Given the description of an element on the screen output the (x, y) to click on. 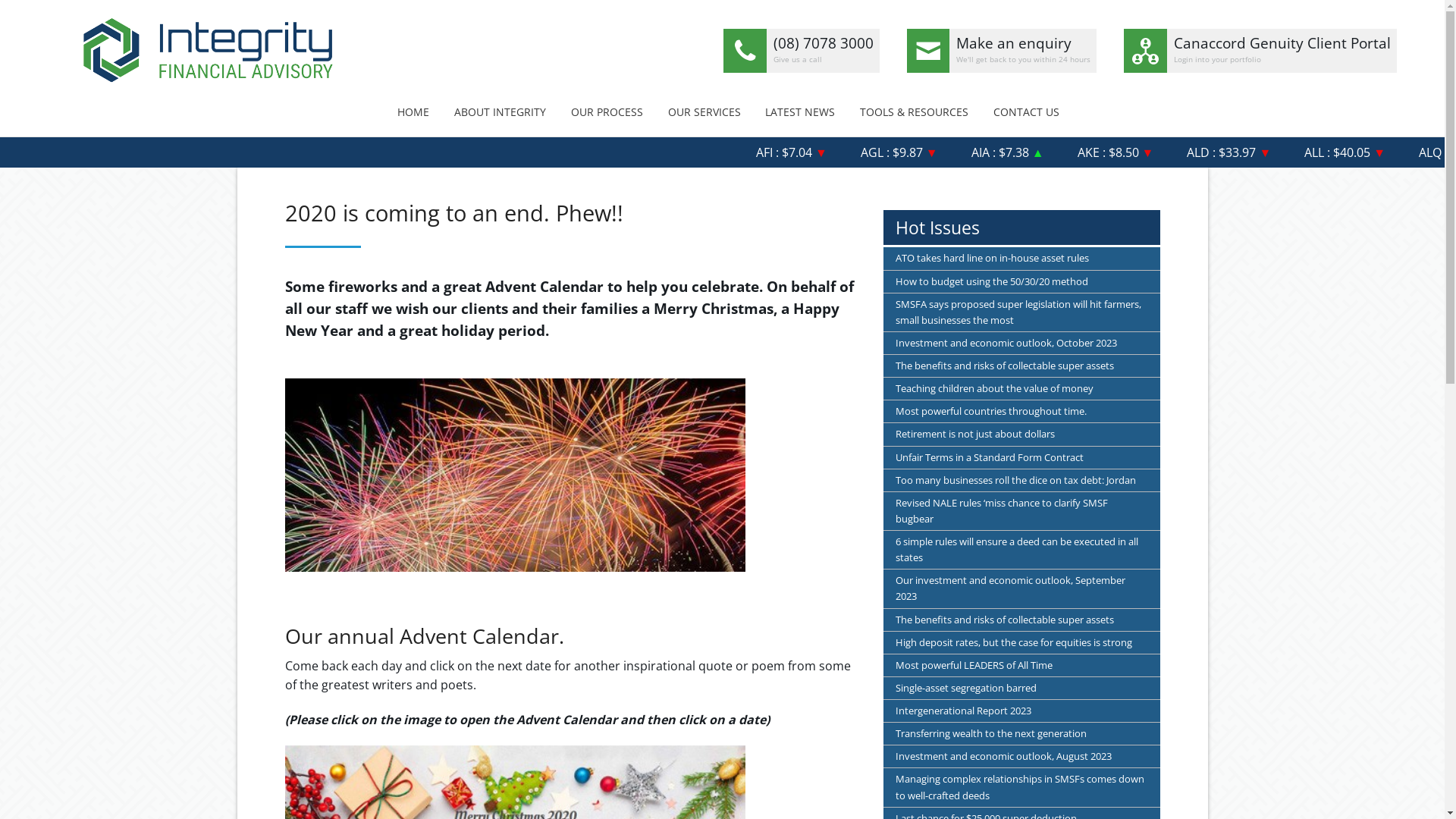
High deposit rates, but the case for equities is strong Element type: text (1021, 642)
ABOUT INTEGRITY Element type: text (500, 111)
Investment and economic outlook, August 2023 Element type: text (1021, 756)
Single-asset segregation barred Element type: text (1021, 688)
Investment and economic outlook, October 2023 Element type: text (1021, 343)
HOME Element type: text (413, 111)
Make an enquiry
We'll get back to you within 24 hours Element type: text (1001, 50)
LATEST NEWS Element type: text (800, 111)
Transferring wealth to the next generation Element type: text (1021, 733)
Canaccord Genuity Client Portal
Login into your portfolio Element type: text (1259, 50)
(08) 7078 3000
Give us a call Element type: text (801, 50)
ATO takes hard line on in-house asset rules Element type: text (1021, 258)
OUR PROCESS Element type: text (606, 111)
Most powerful countries throughout time. Element type: text (1021, 411)
How to budget using the 50/30/20 method Element type: text (1021, 281)
OUR SERVICES Element type: text (703, 111)
CONTACT US Element type: text (1025, 111)
Intergenerational Report 2023 Element type: text (1021, 710)
Our investment and economic outlook, September 2023 Element type: text (1021, 588)
Teaching children about the value of money Element type: text (1021, 388)
Retirement is not just about dollars Element type: text (1021, 434)
Most powerful LEADERS of All Time Element type: text (1021, 665)
Unfair Terms in a Standard Form Contract Element type: text (1021, 457)
The benefits and risks of collectable super assets Element type: text (1021, 619)
TOOLS & RESOURCES Element type: text (914, 111)
Too many businesses roll the dice on tax debt: Jordan Element type: text (1021, 480)
The benefits and risks of collectable super assets Element type: text (1021, 365)
